Given the description of an element on the screen output the (x, y) to click on. 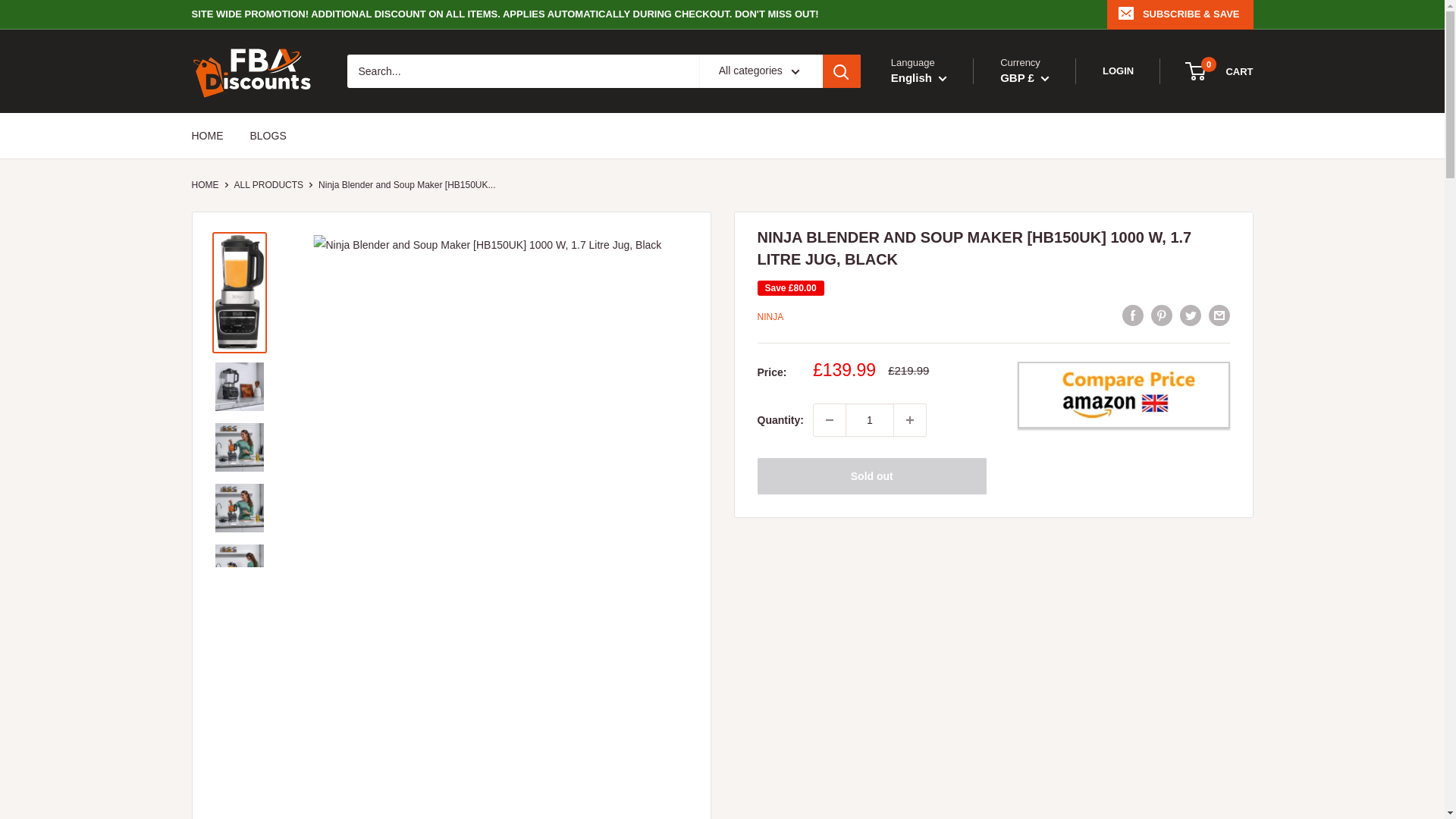
zh-CN (932, 134)
Decrease quantity by 1 (1219, 70)
GBP (829, 419)
FBA DISCOUNTS (1035, 134)
en (252, 71)
LOGIN (932, 115)
HOME (1118, 71)
BLOGS (204, 184)
Increase quantity by 1 (268, 135)
HOME (909, 419)
1 (206, 135)
EUR (869, 419)
ALL PRODUCTS (1035, 115)
English (267, 184)
